Given the description of an element on the screen output the (x, y) to click on. 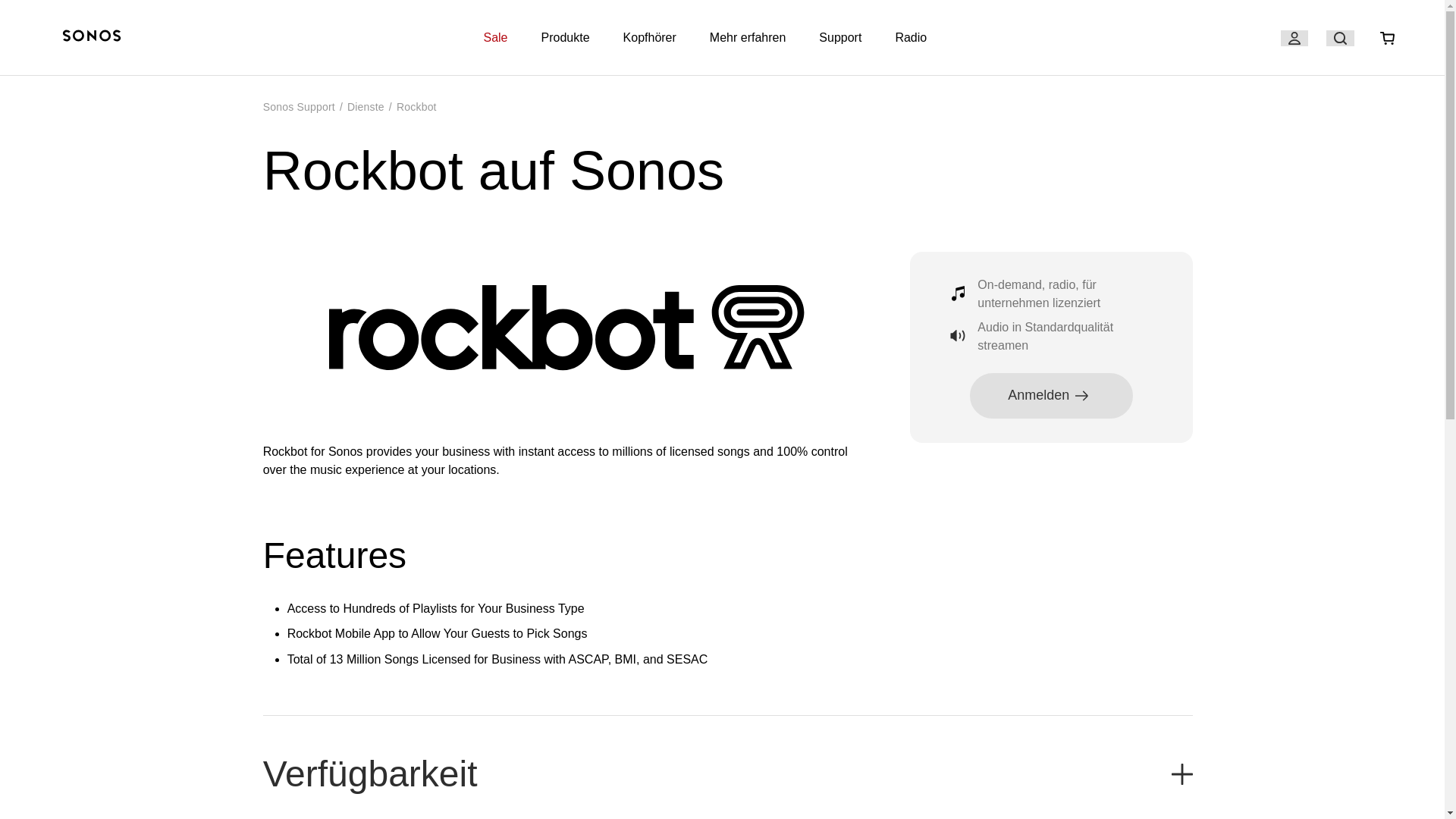
Suchen (1340, 37)
Mehr erfahren (747, 37)
Warenkorb (1387, 38)
Produkte (565, 37)
Rockbot (416, 106)
Warenkorb (1387, 37)
Suchen (1339, 38)
Mein Account (1294, 38)
Sonos Support (298, 106)
Support (839, 37)
Sale (494, 37)
Radio (910, 37)
Dienste (365, 106)
Mein Account (1294, 37)
Anmelden (1050, 395)
